Given the description of an element on the screen output the (x, y) to click on. 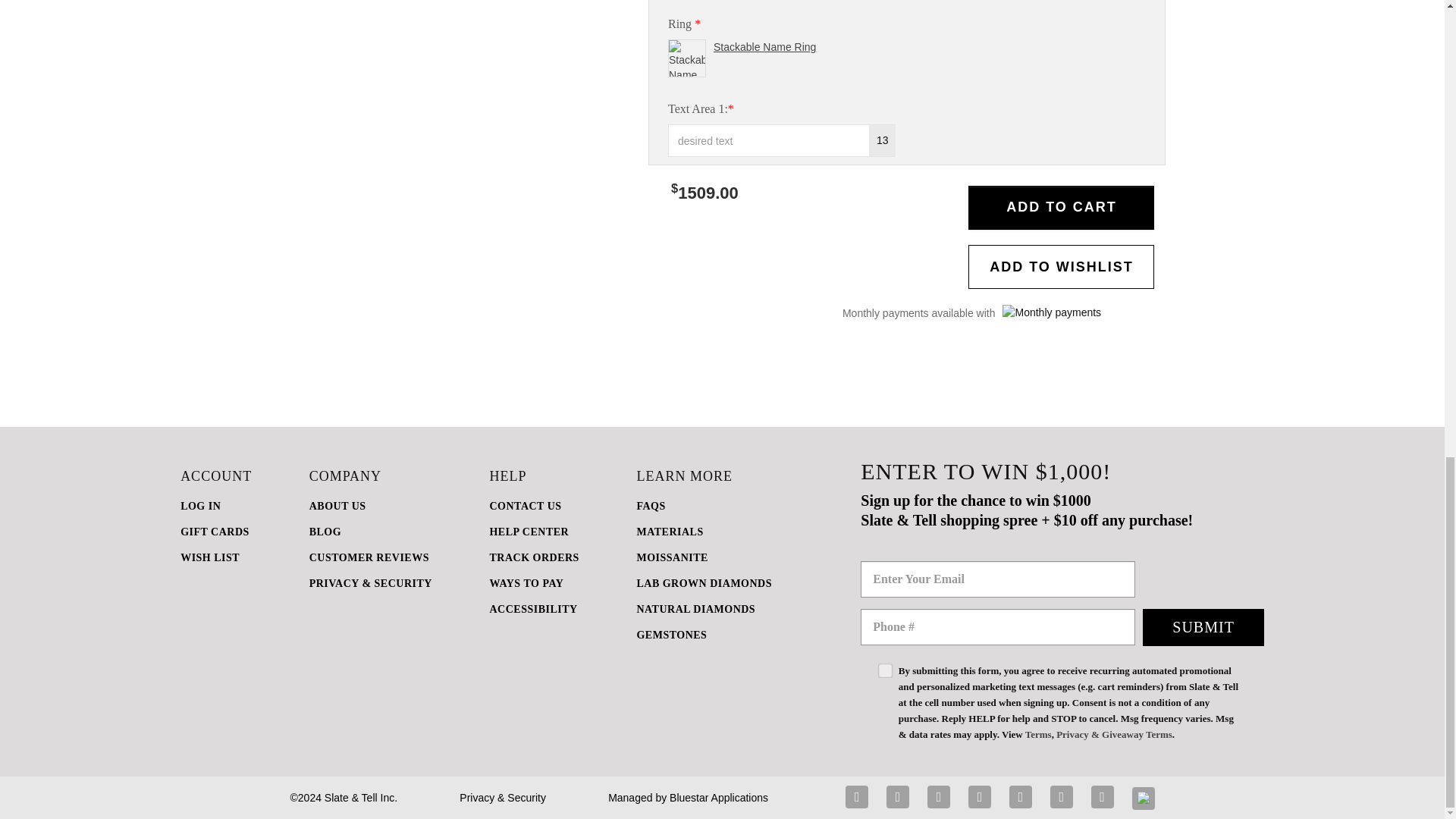
on (879, 667)
